Given the description of an element on the screen output the (x, y) to click on. 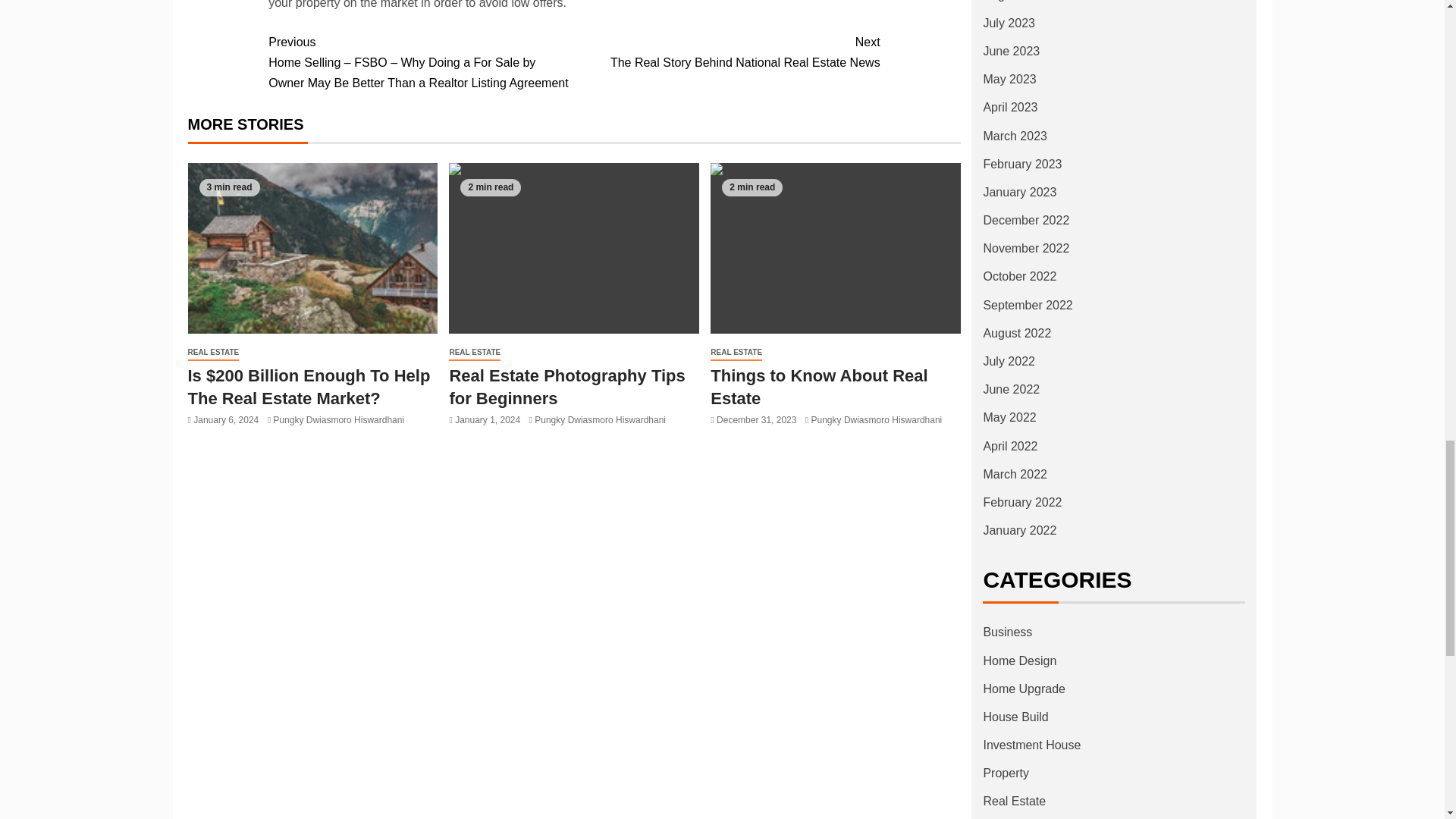
Real Estate Photography Tips for Beginners (726, 51)
Things to Know About Real Estate (573, 247)
Is 0 Billion Enough To Help The Real Estate Market? (835, 247)
REAL ESTATE (312, 247)
Real Estate Photography Tips for Beginners (213, 352)
REAL ESTATE (566, 386)
Things to Know About Real Estate (474, 352)
REAL ESTATE (818, 386)
Pungky Dwiasmoro Hiswardhani (735, 352)
